Given the description of an element on the screen output the (x, y) to click on. 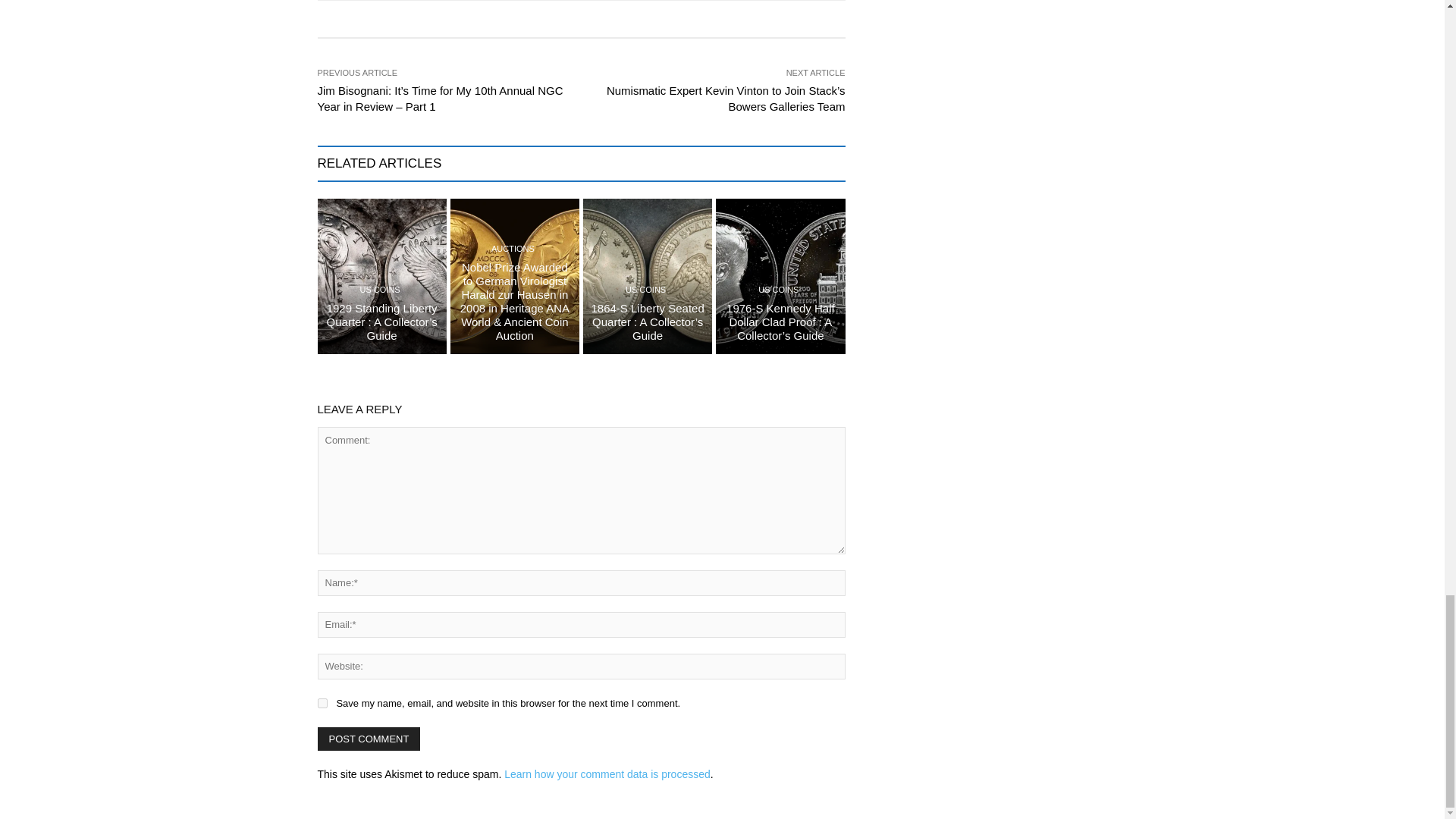
Post Comment (368, 739)
yes (321, 703)
